Given the description of an element on the screen output the (x, y) to click on. 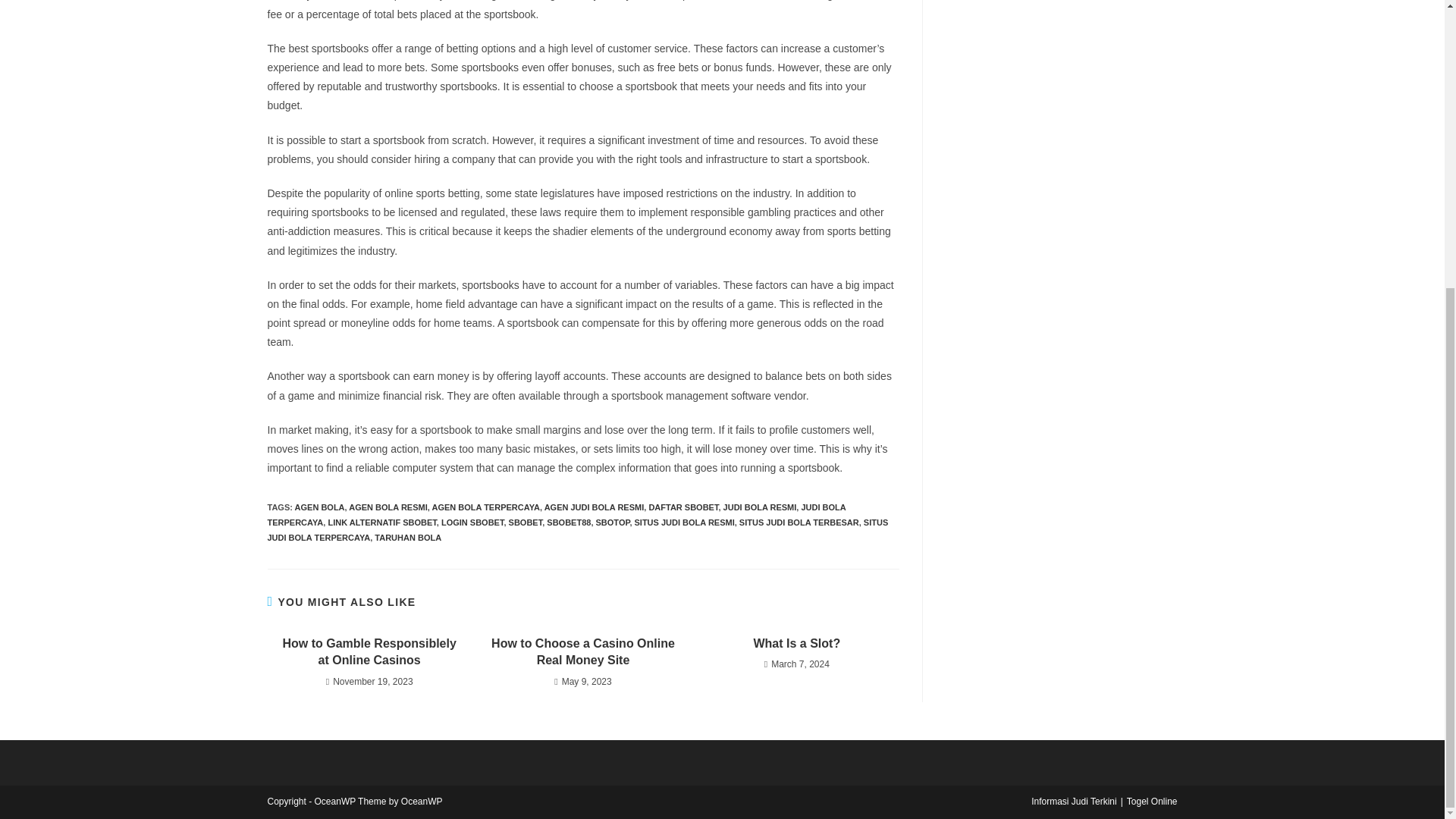
SBOBET (525, 522)
SITUS JUDI BOLA TERBESAR (799, 522)
JUDI BOLA TERPERCAYA (555, 514)
AGEN BOLA TERPERCAYA (486, 506)
How to Choose a Casino Online Real Money Site (582, 652)
LINK ALTERNATIF SBOBET (381, 522)
AGEN JUDI BOLA RESMI (594, 506)
LOGIN SBOBET (472, 522)
TARUHAN BOLA (407, 537)
SBOBET88 (569, 522)
AGEN BOLA (320, 506)
DAFTAR SBOBET (682, 506)
How to Gamble Responsiblely at Online Casinos (368, 652)
AGEN BOLA RESMI (388, 506)
SBOTOP (612, 522)
